Given the description of an element on the screen output the (x, y) to click on. 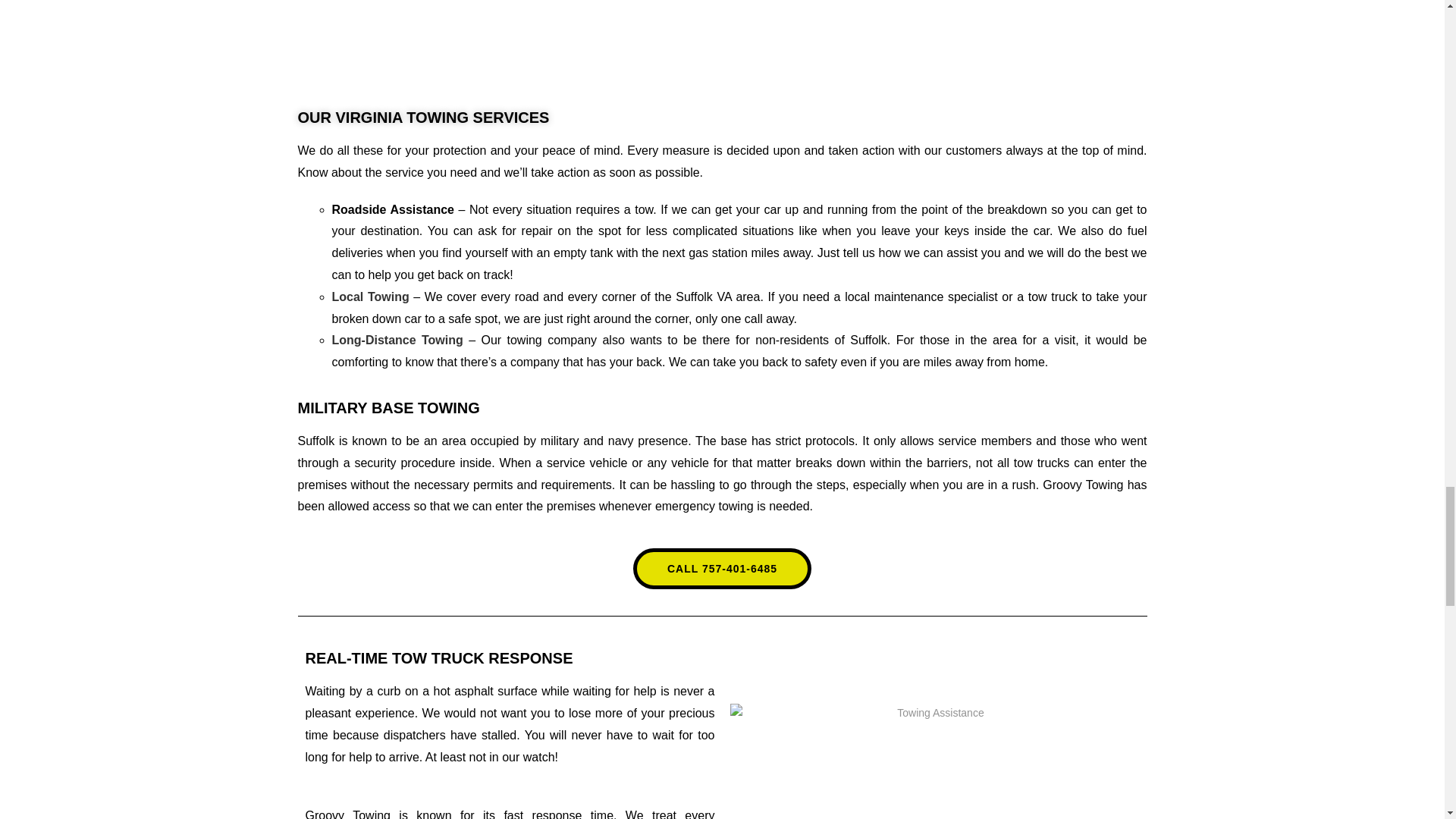
MILITARY BASE TOWING (388, 407)
Local Towing  (372, 296)
Long-Distance Towing (397, 339)
CALL 757-401-6485 (721, 567)
